Given the description of an element on the screen output the (x, y) to click on. 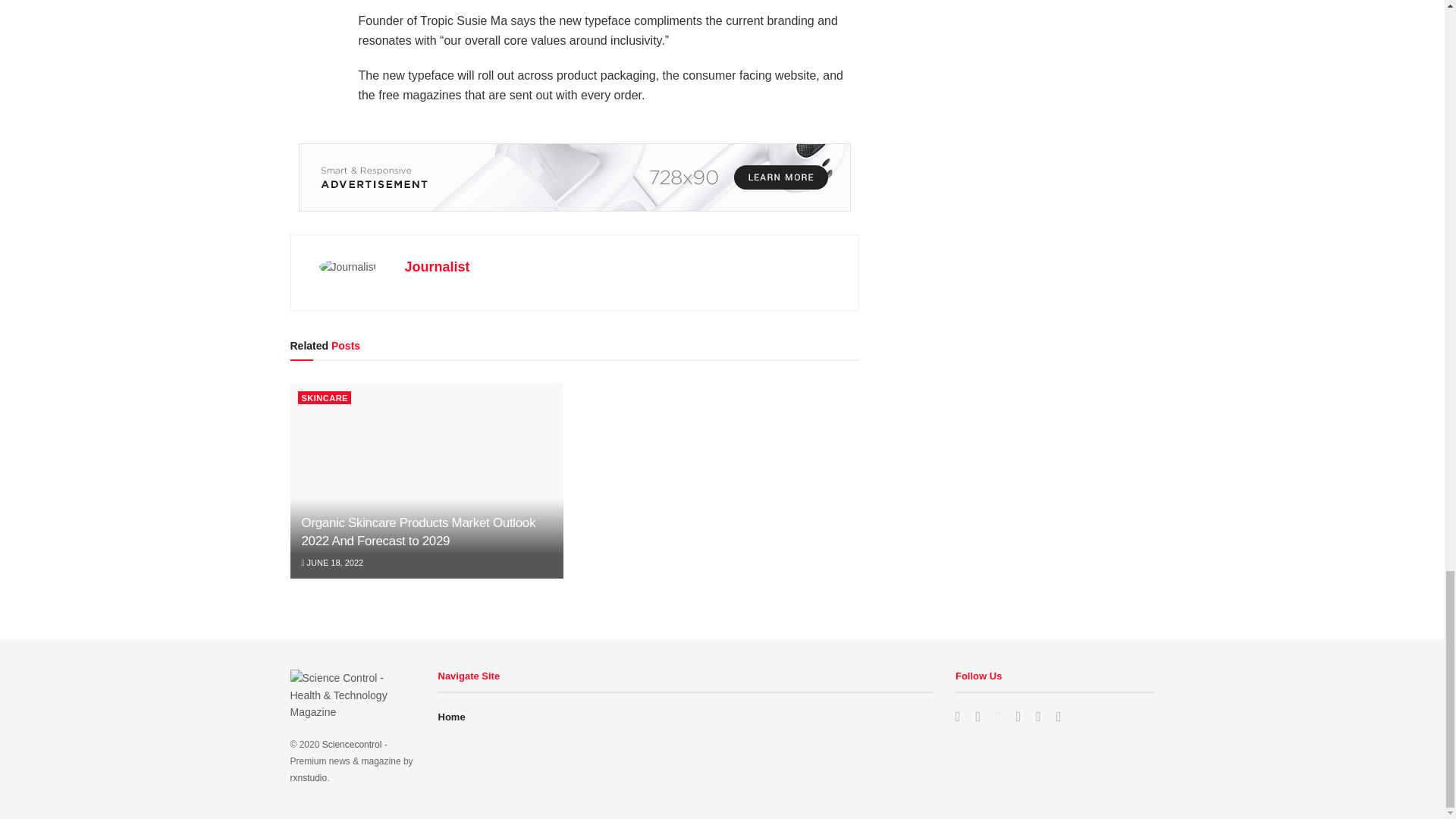
Jegtheme (307, 777)
